Given the description of an element on the screen output the (x, y) to click on. 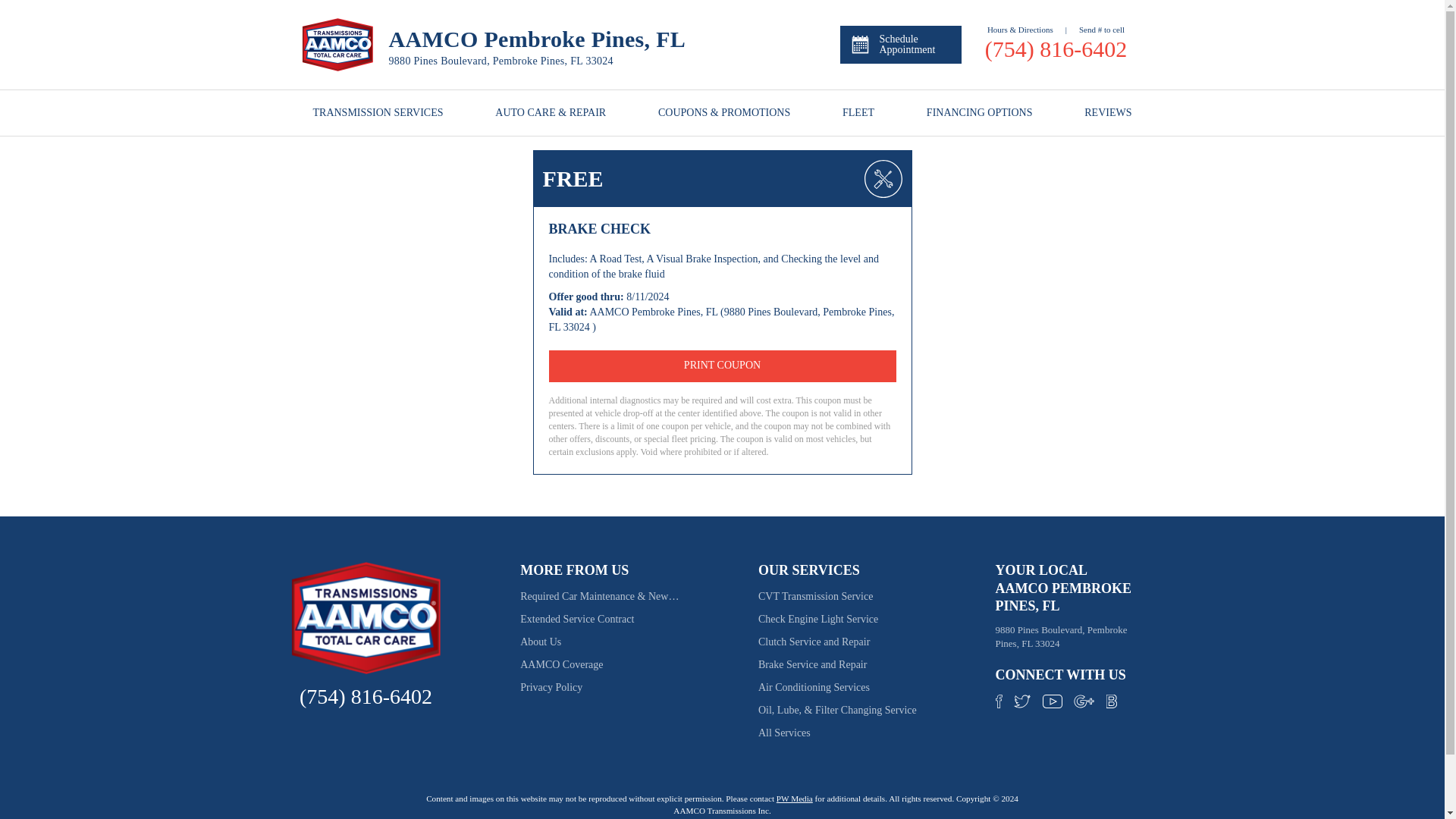
FINANCING OPTIONS (979, 112)
TRANSMISSION SERVICES (377, 112)
REVIEWS (1107, 112)
PRINT COUPON (722, 366)
FLEET (859, 112)
Schedule Appointment (900, 44)
